Given the description of an element on the screen output the (x, y) to click on. 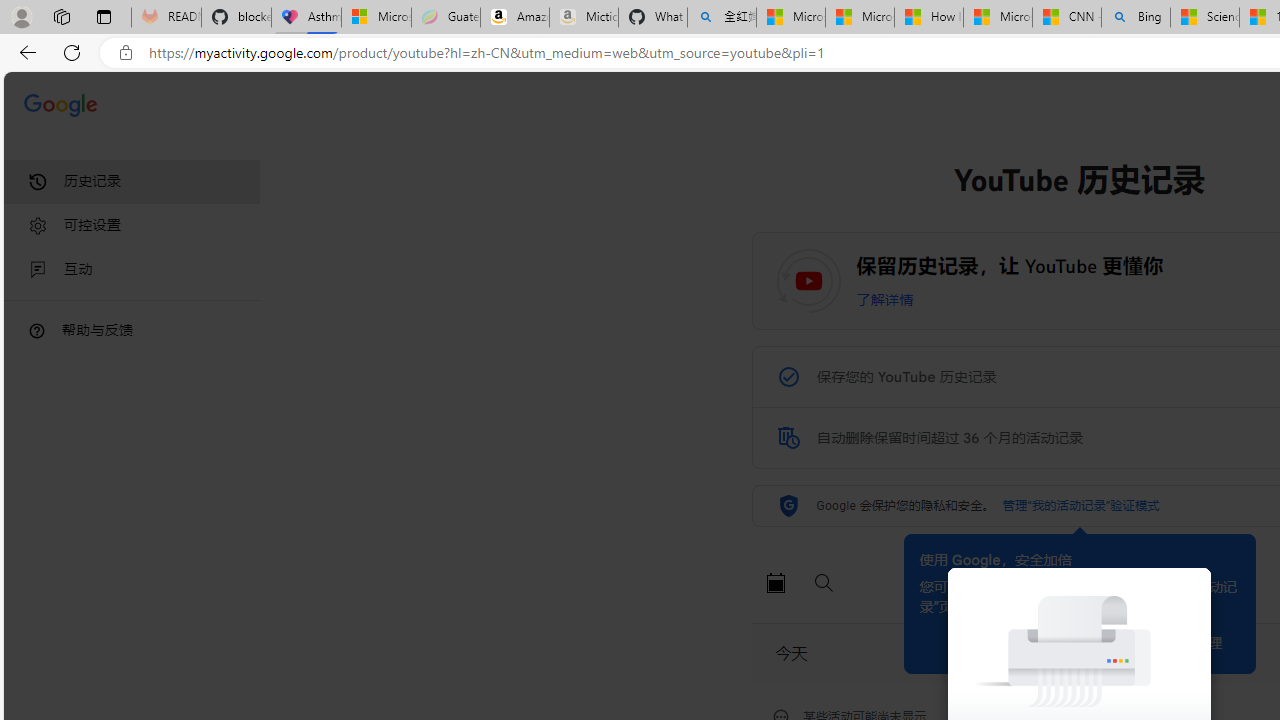
CNN - MSN (1066, 17)
